Given the description of an element on the screen output the (x, y) to click on. 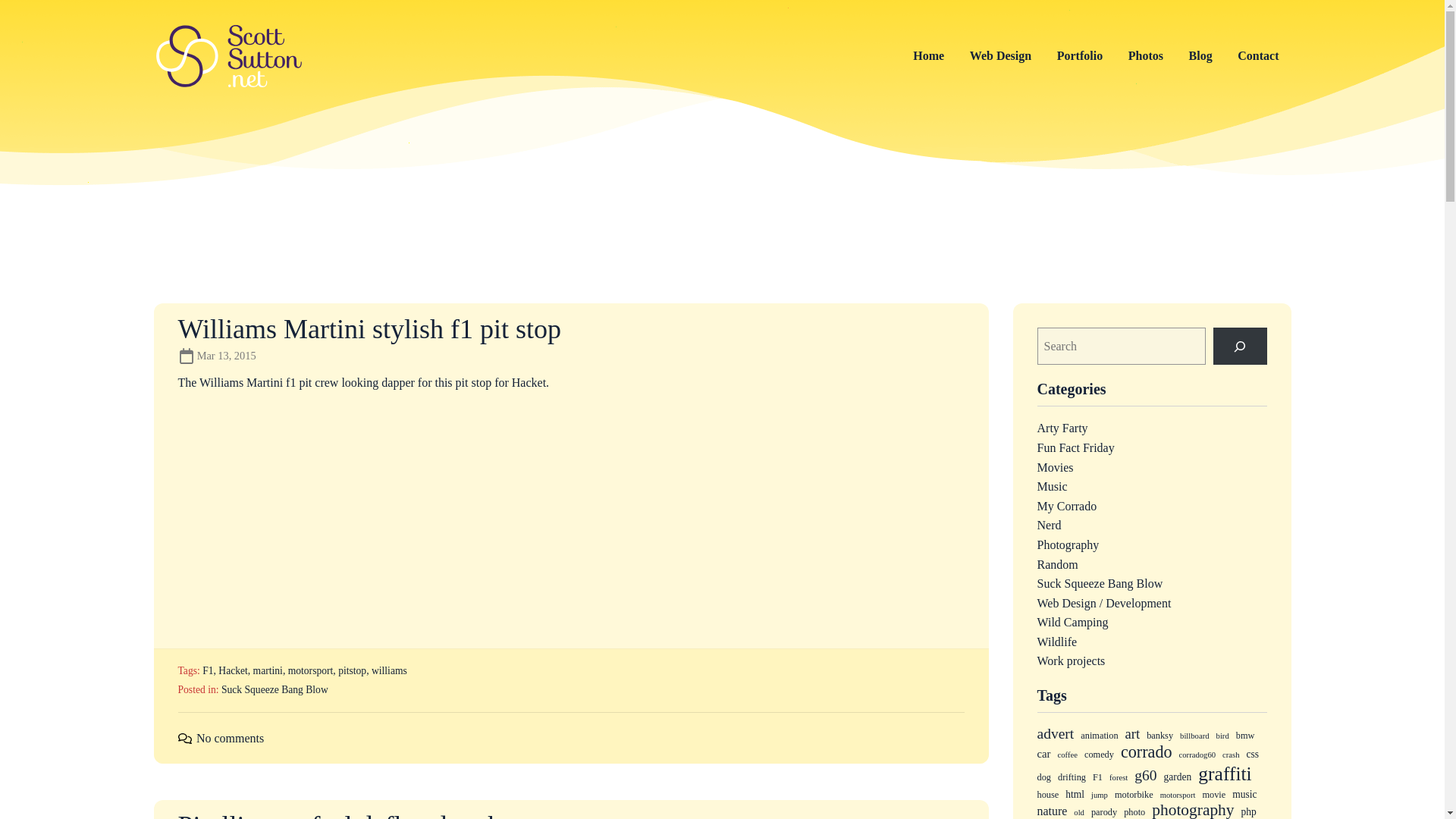
motorsport (310, 670)
pitstop (351, 670)
Hacket (232, 670)
Home (928, 56)
martini (267, 670)
Web Design (1000, 56)
comments (183, 737)
Pirelli must feel deflated at the moment (393, 815)
Portfolio (1080, 56)
Contact (1257, 56)
Suck Squeeze Bang Blow (275, 689)
Photos (1145, 56)
Williams Martini stylish f1 pit stop (368, 329)
williams (389, 670)
